Given the description of an element on the screen output the (x, y) to click on. 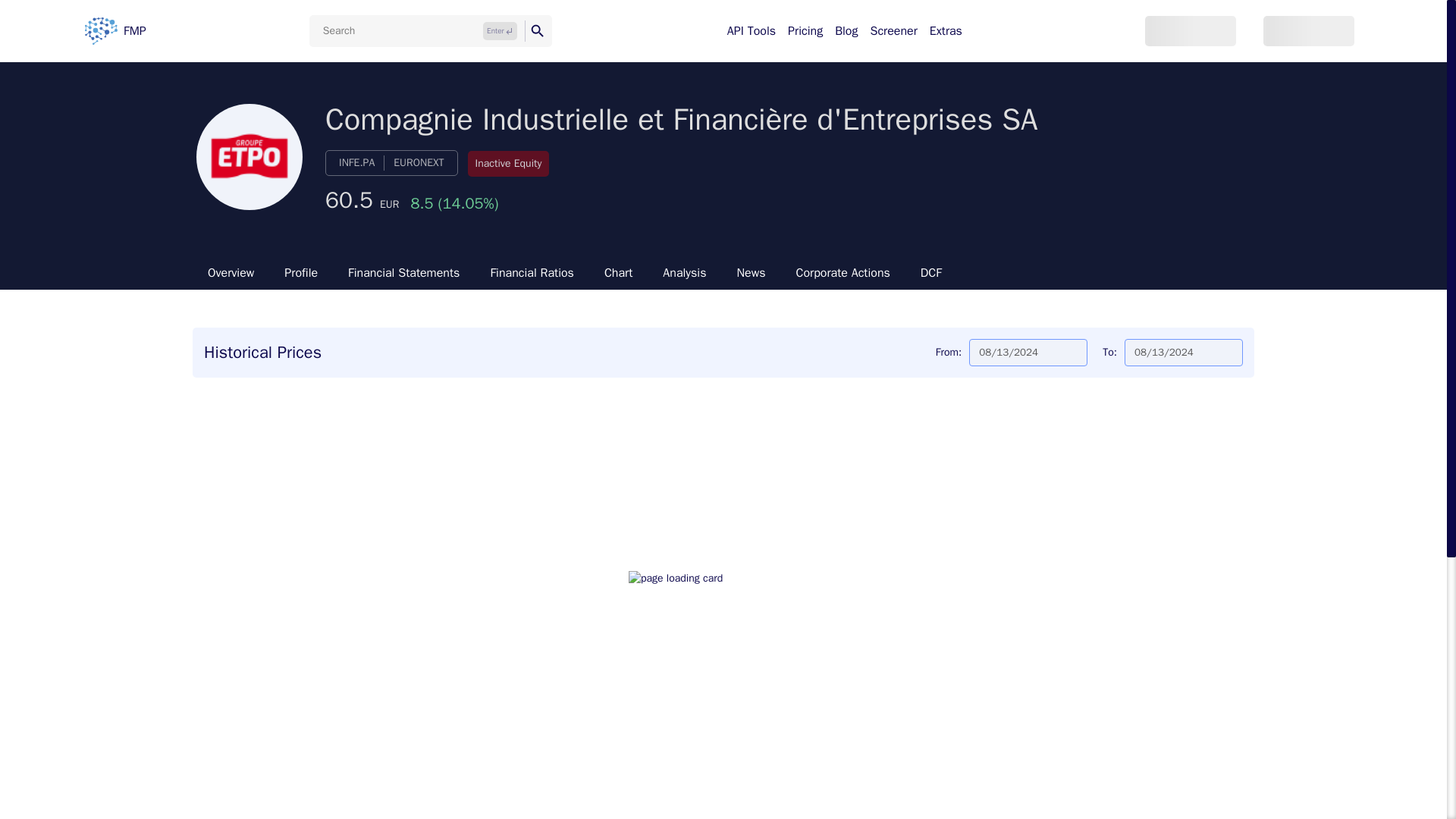
FMP (115, 30)
Overview (230, 272)
Pricing (804, 30)
